Given the description of an element on the screen output the (x, y) to click on. 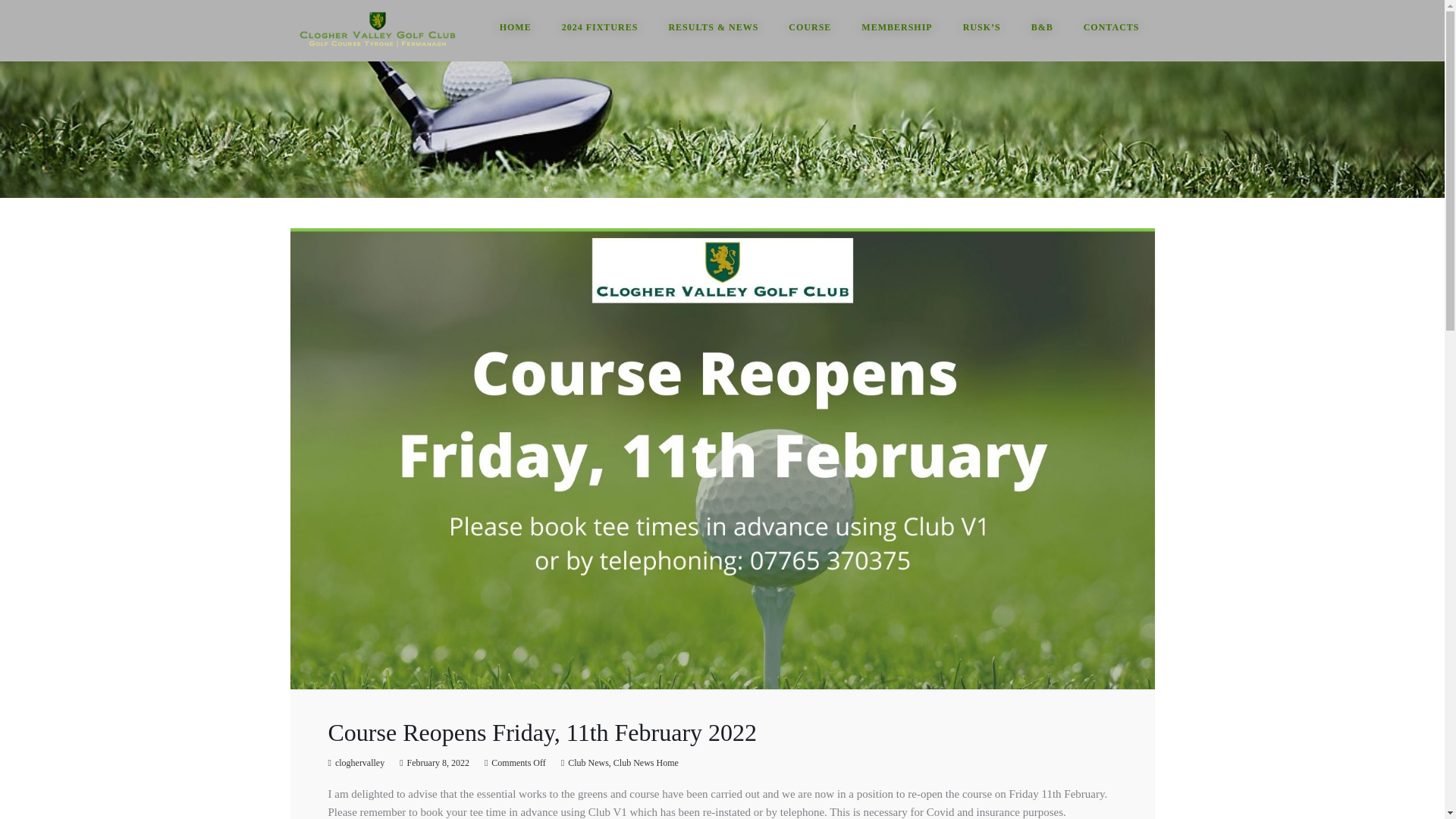
HOME (515, 27)
Posts by cloghervalley (359, 762)
CONTACTS (1111, 27)
MEMBERSHIP (896, 27)
COURSE (809, 27)
2024 FIXTURES (600, 27)
